Given the description of an element on the screen output the (x, y) to click on. 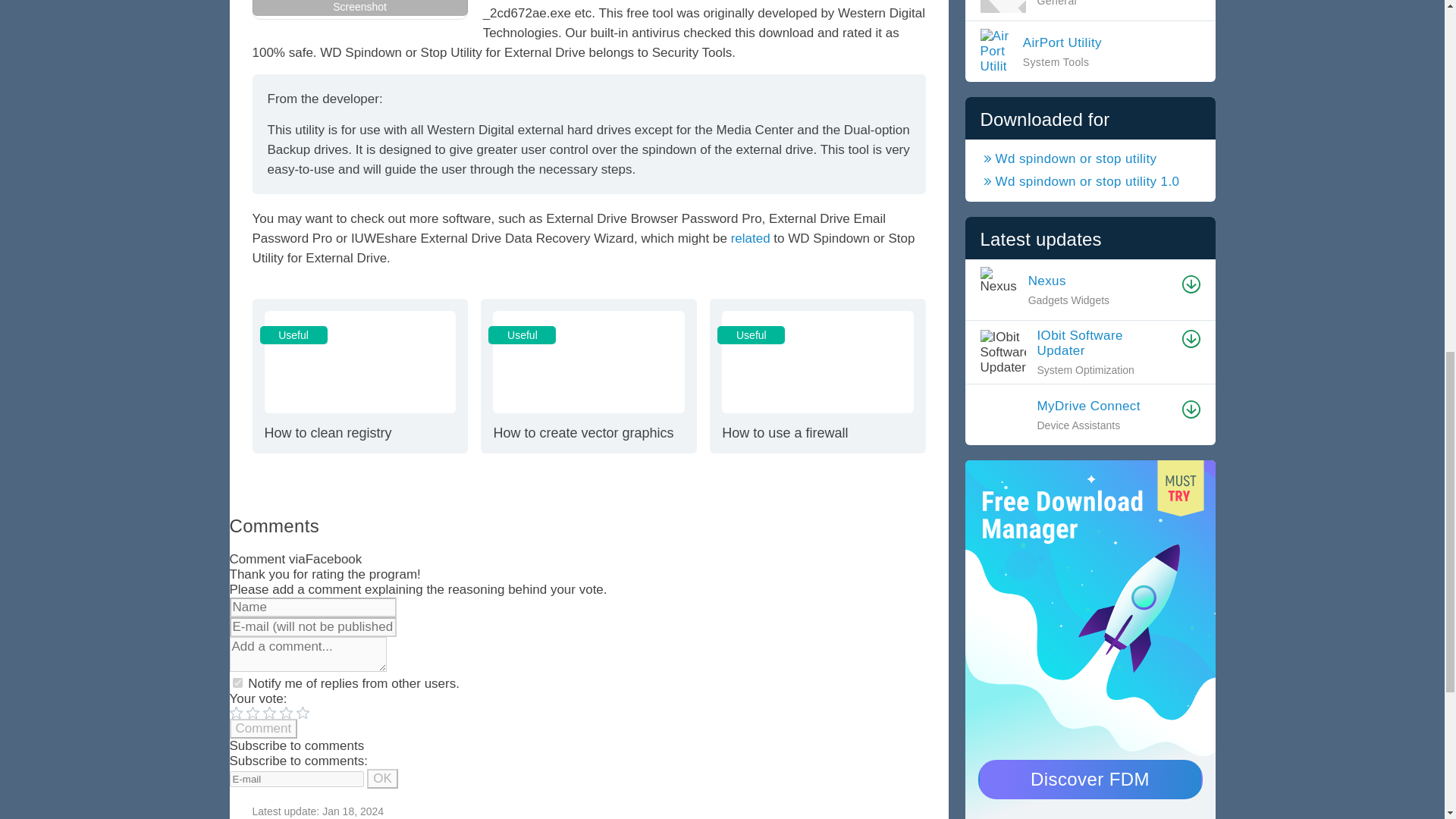
1 (236, 682)
Comment (262, 728)
related (817, 375)
OK (750, 237)
OK (381, 778)
Comment (587, 375)
